Given the description of an element on the screen output the (x, y) to click on. 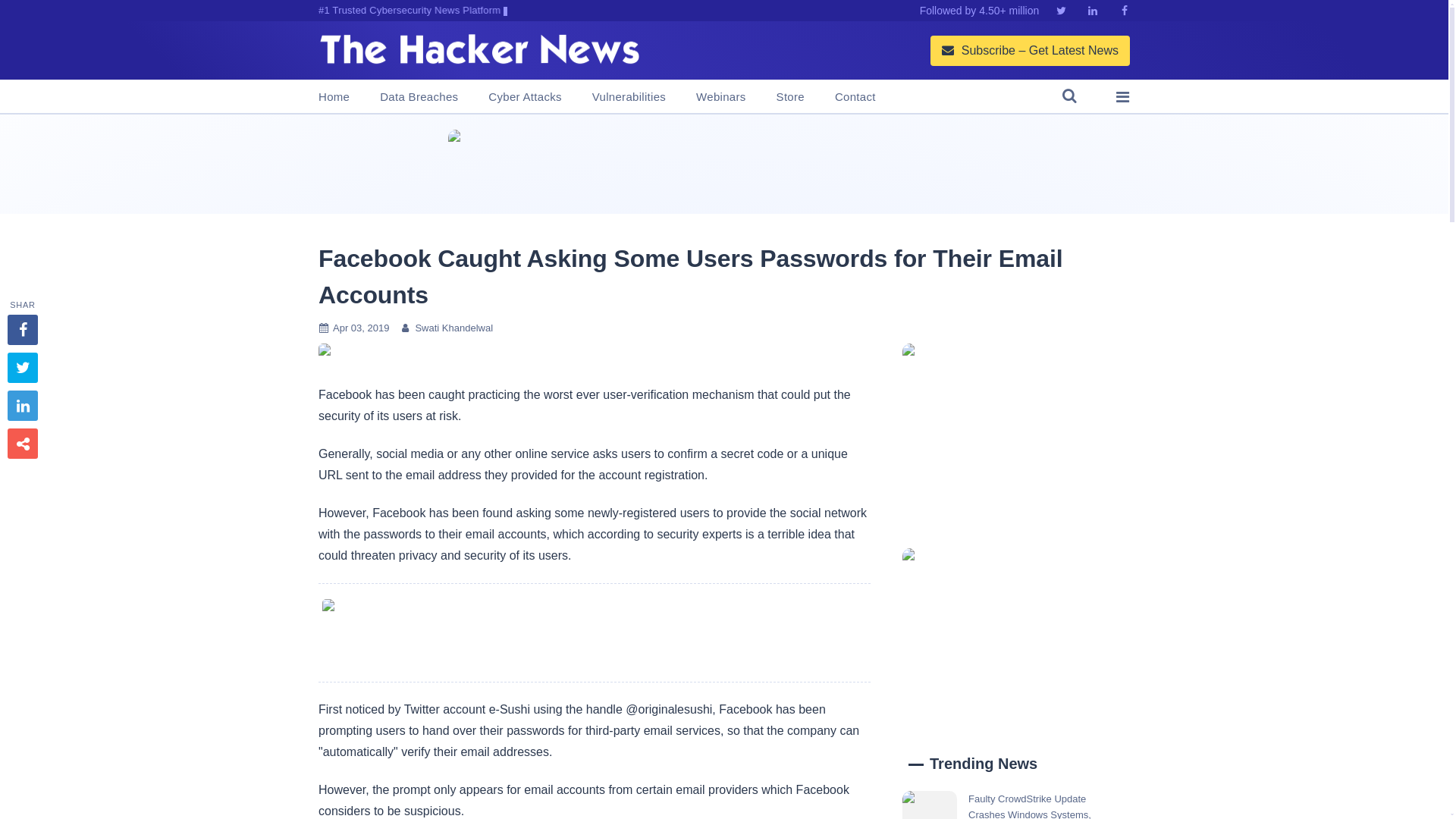
Home (333, 96)
Vulnerabilities (628, 96)
Insider Risk Management (723, 164)
Contact (855, 96)
Store (790, 96)
Cyber Attacks (523, 96)
Data Breaches (419, 96)
Webinars (720, 96)
Cybersecurity (593, 632)
facebook email password (324, 353)
